Given the description of an element on the screen output the (x, y) to click on. 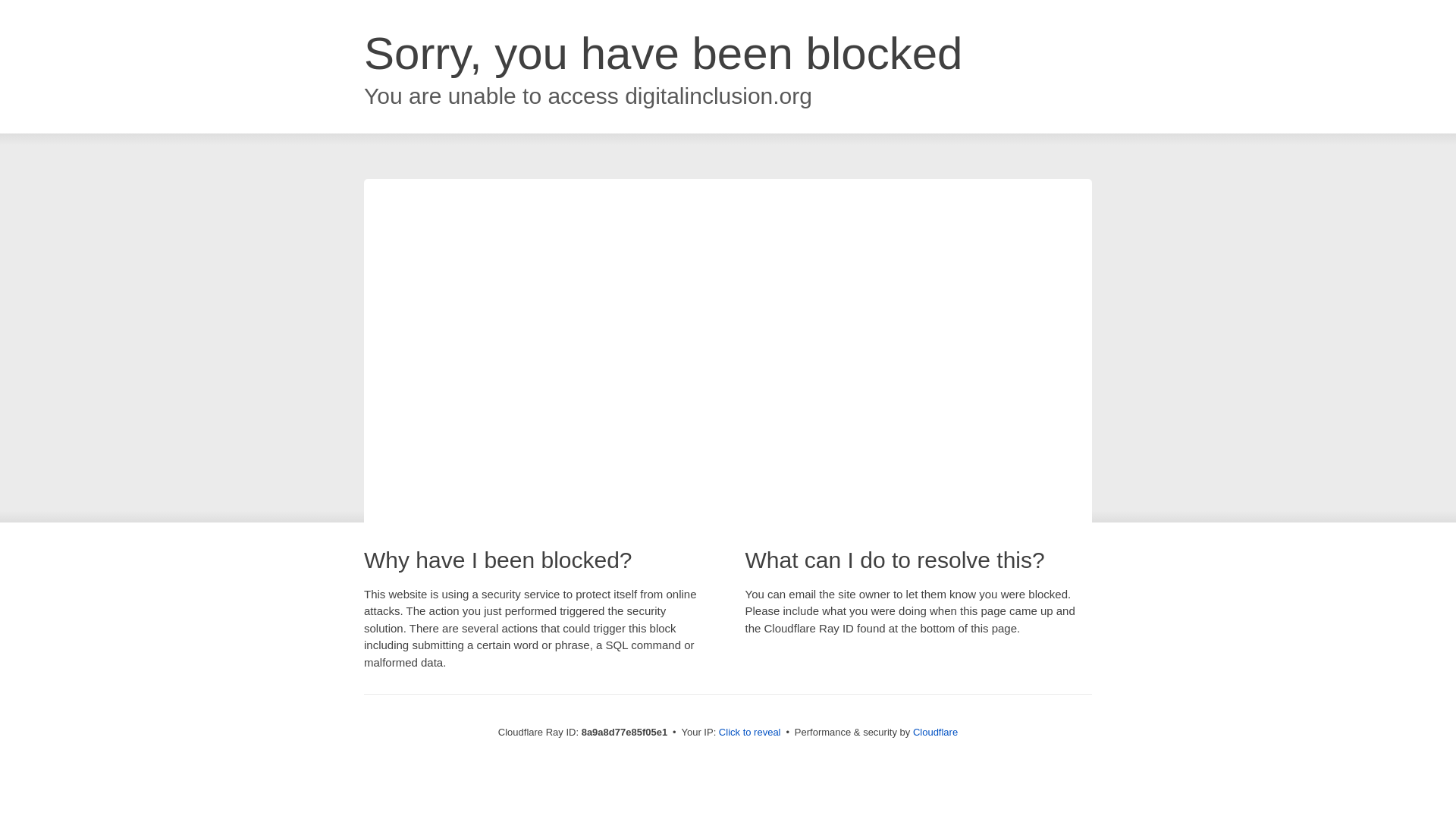
Cloudflare (935, 731)
Click to reveal (749, 732)
